Given the description of an element on the screen output the (x, y) to click on. 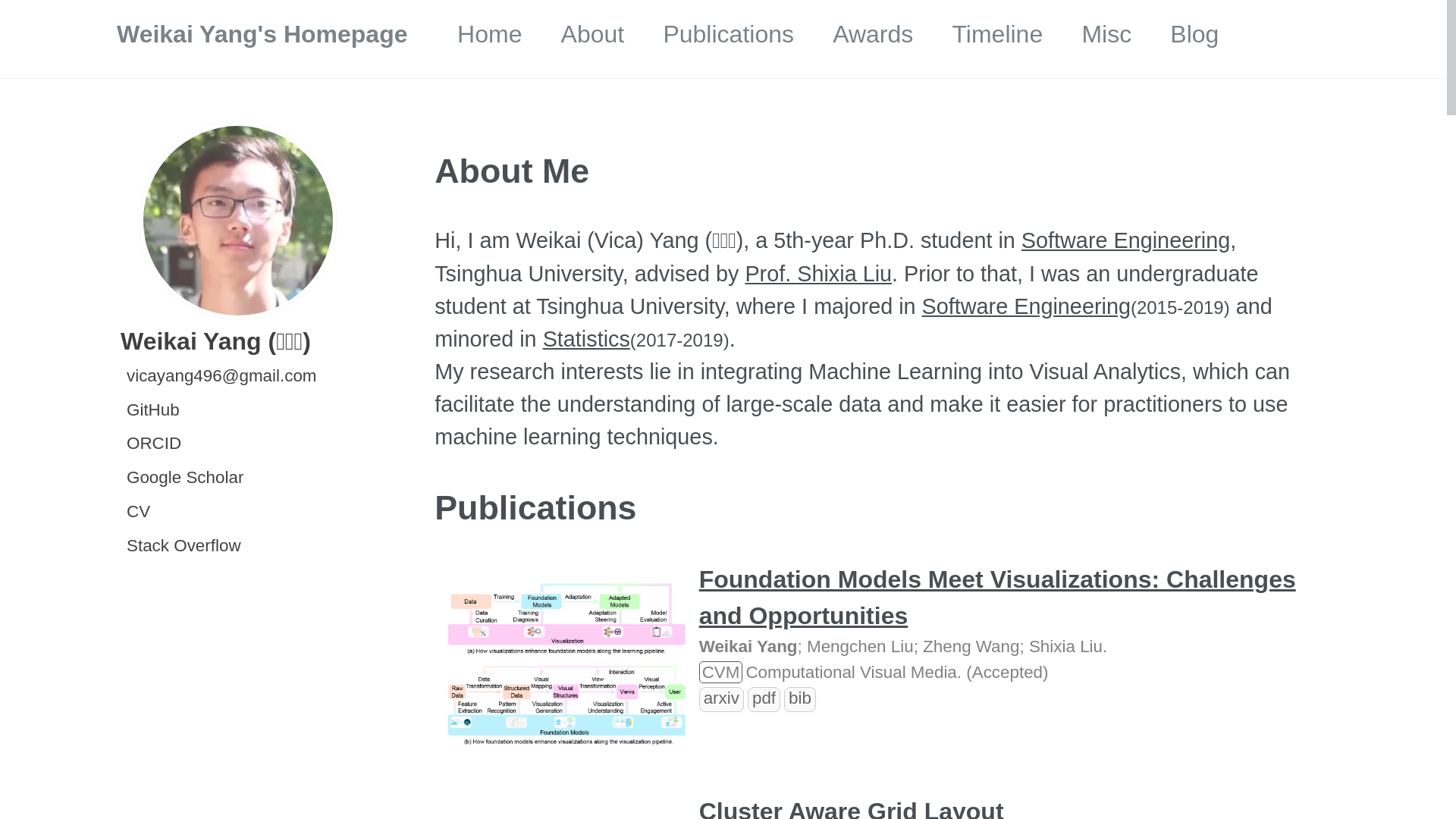
Mengchen Liu Element type: text (859, 646)
Misc Element type: text (1106, 34)
ORCID Element type: text (152, 443)
arxiv Element type: text (721, 697)
Software Engineering Element type: text (1026, 306)
bib Element type: text (799, 697)
Awards Element type: text (872, 34)
Blog Element type: text (1194, 34)
Weikai Yang's Homepage Element type: text (261, 34)
Prof. Shixia Liu Element type: text (817, 272)
CV Element type: text (136, 511)
Google Scholar Element type: text (183, 477)
Software Engineering Element type: text (1125, 240)
pdf Element type: text (763, 697)
Home Element type: text (489, 34)
Statistics Element type: text (586, 338)
Shixia Liu Element type: text (1065, 646)
Timeline Element type: text (996, 34)
GitHub Element type: text (151, 409)
About Element type: text (592, 34)
vicayang496@gmail.com Element type: text (220, 375)
Stack Overflow Element type: text (182, 545)
Publications Element type: text (727, 34)
